Given the description of an element on the screen output the (x, y) to click on. 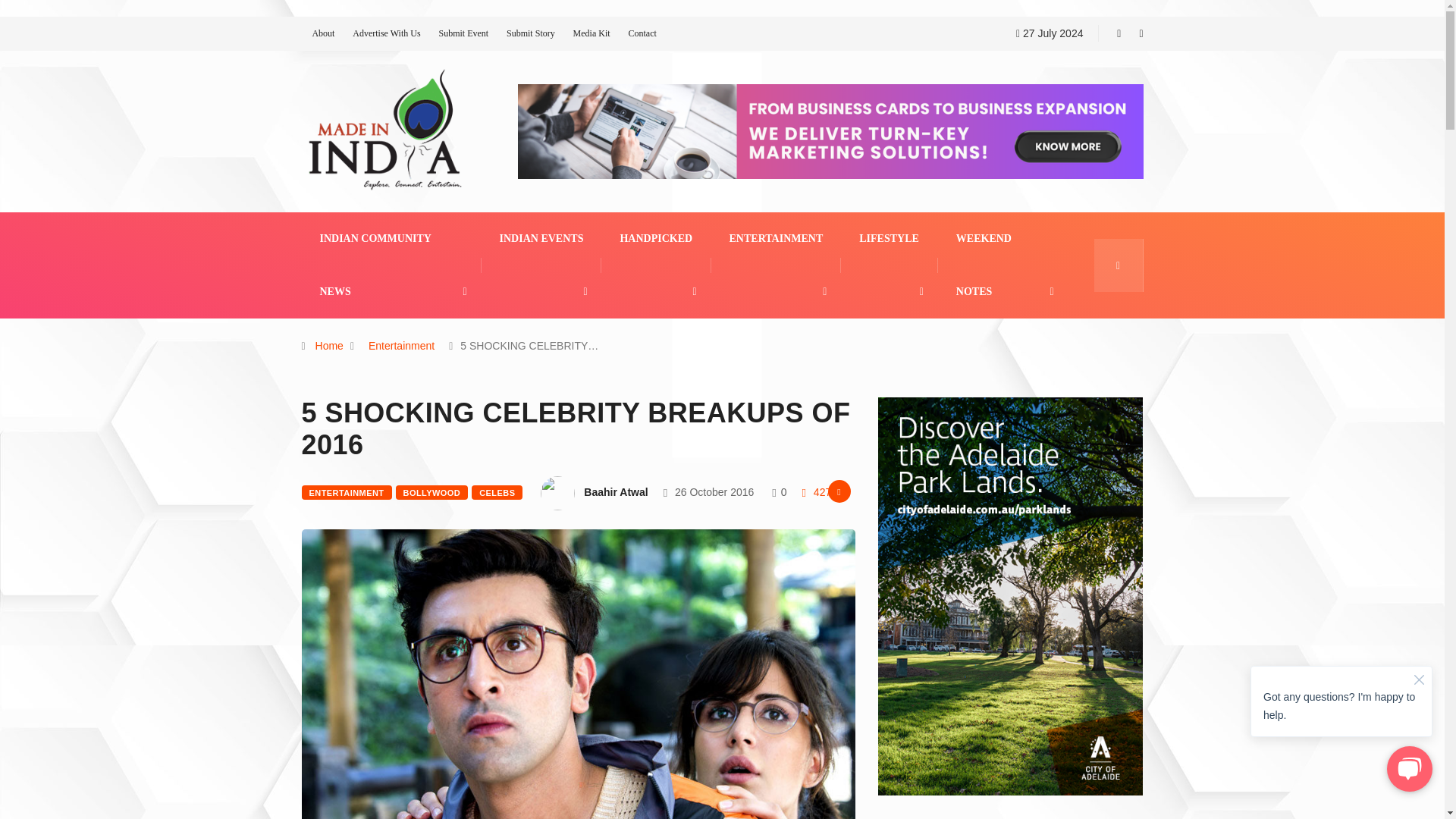
ENTERTAINMENT (776, 238)
INDIAN COMMUNITY NEWS (391, 265)
About (322, 32)
facebook (1118, 33)
HANDPICKED (656, 238)
Submit Story (530, 32)
Instagram (1140, 33)
Submit Event (462, 32)
Advertise With Us (386, 32)
INDIAN EVENTS (541, 238)
Media Kit (591, 32)
Contact (641, 32)
